Given the description of an element on the screen output the (x, y) to click on. 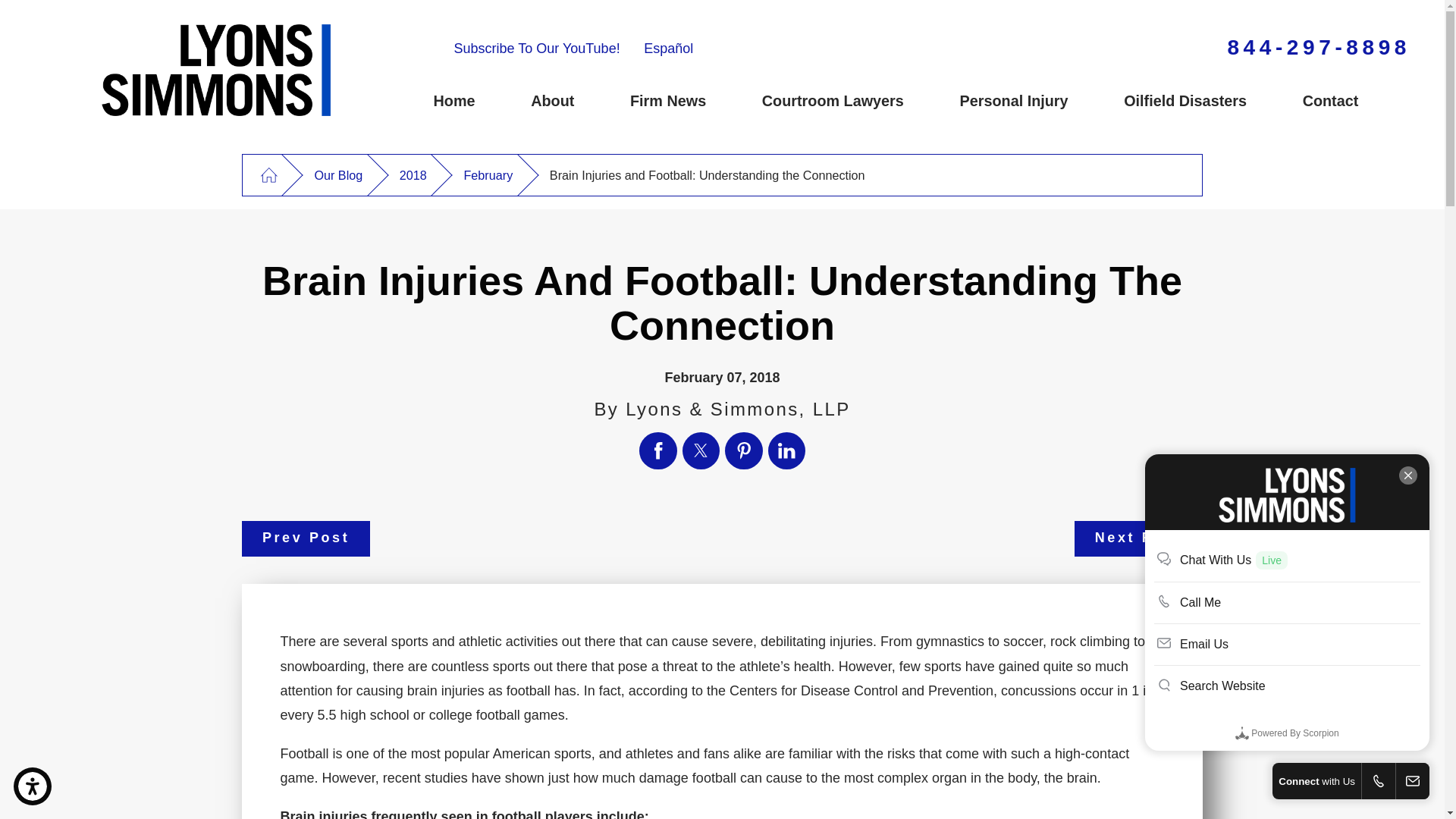
Courtroom Lawyers (860, 101)
Open the accessibility options menu (31, 786)
Personal Injury (1041, 101)
844-297-8898 (1318, 47)
Contact (1358, 101)
About (580, 101)
Go Home (269, 175)
Home (482, 101)
Subscribe To Our YouTube! (536, 48)
Oilfield Disasters (1212, 101)
Firm News (695, 101)
